Given the description of an element on the screen output the (x, y) to click on. 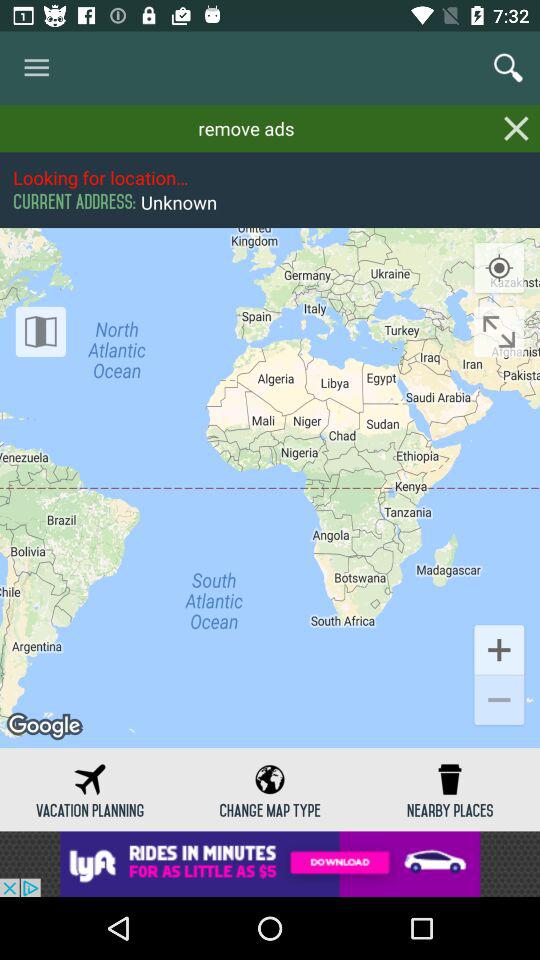
adventisment (270, 864)
